Given the description of an element on the screen output the (x, y) to click on. 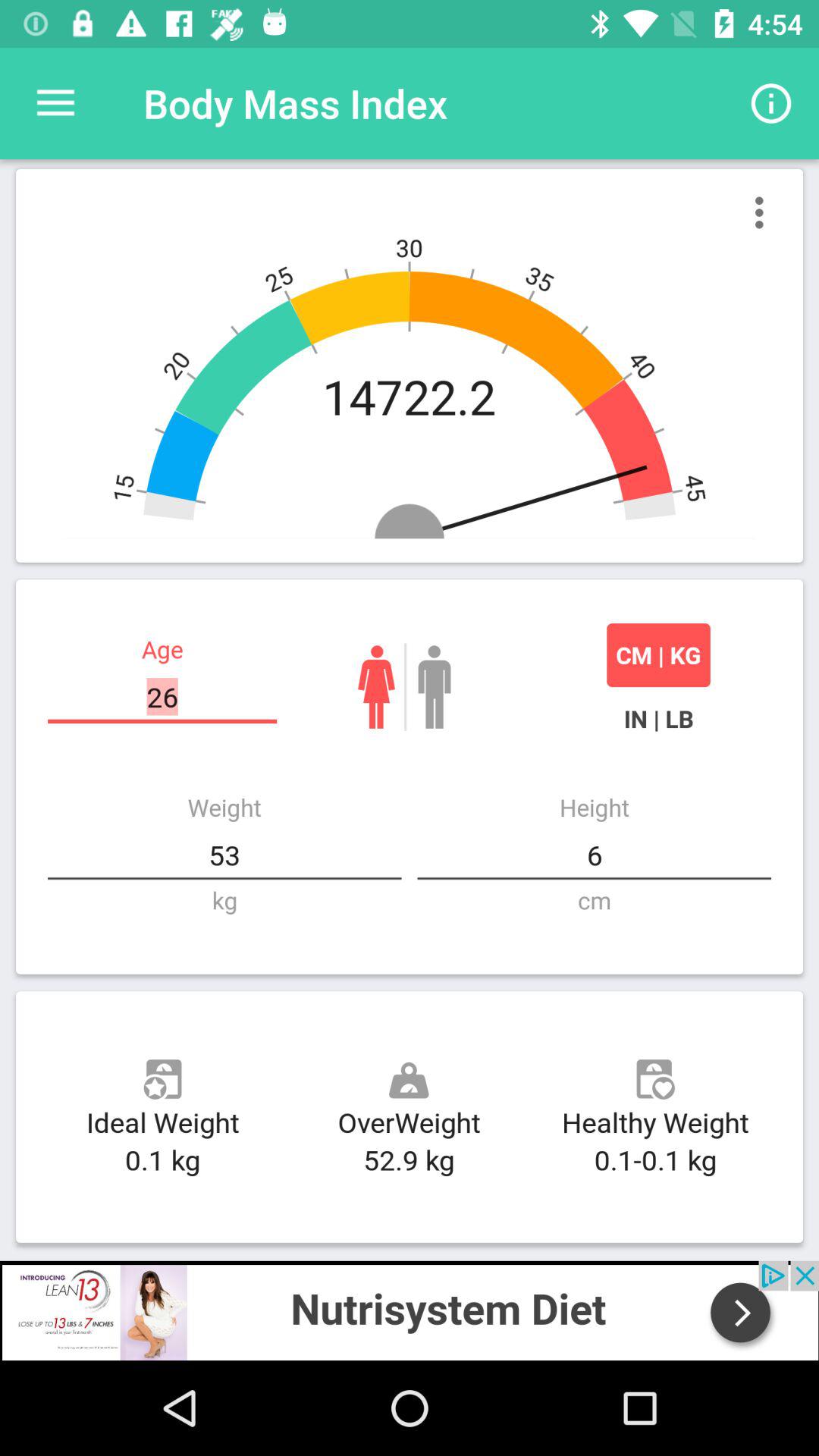
advertisement for nutrisystem diet (409, 1310)
